Given the description of an element on the screen output the (x, y) to click on. 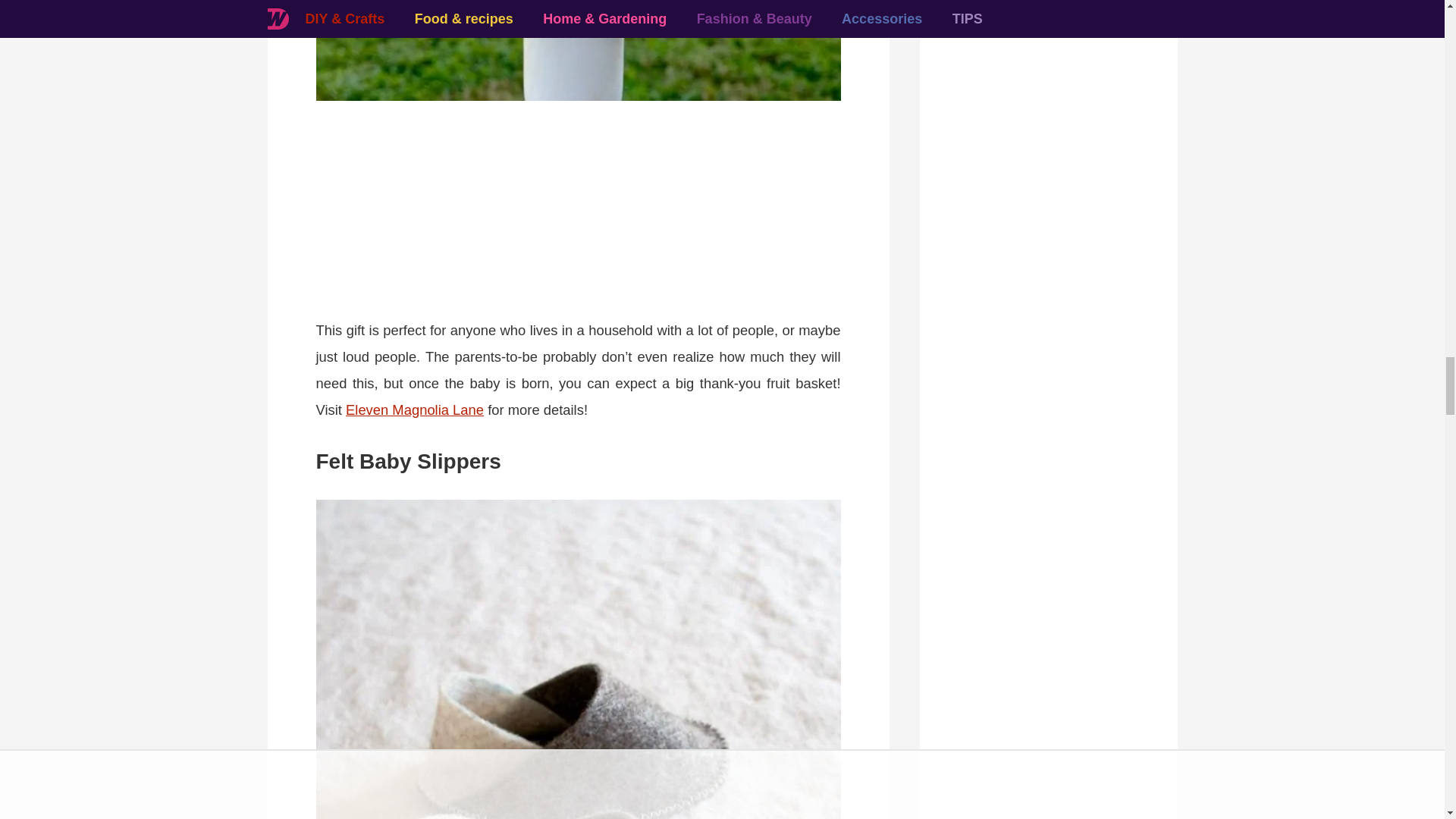
Eleven Magnolia Lane (414, 409)
